Given the description of an element on the screen output the (x, y) to click on. 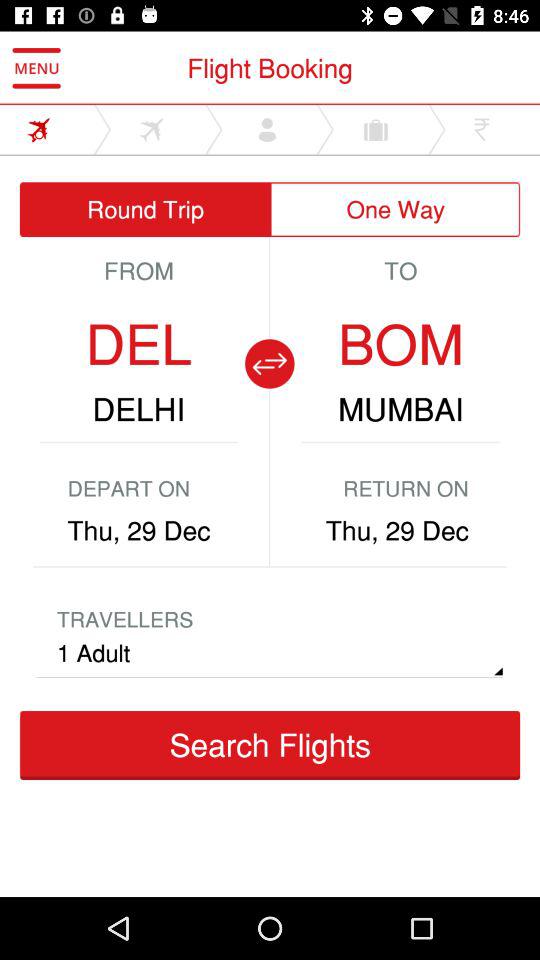
click the icon next to the round trip item (395, 209)
